Given the description of an element on the screen output the (x, y) to click on. 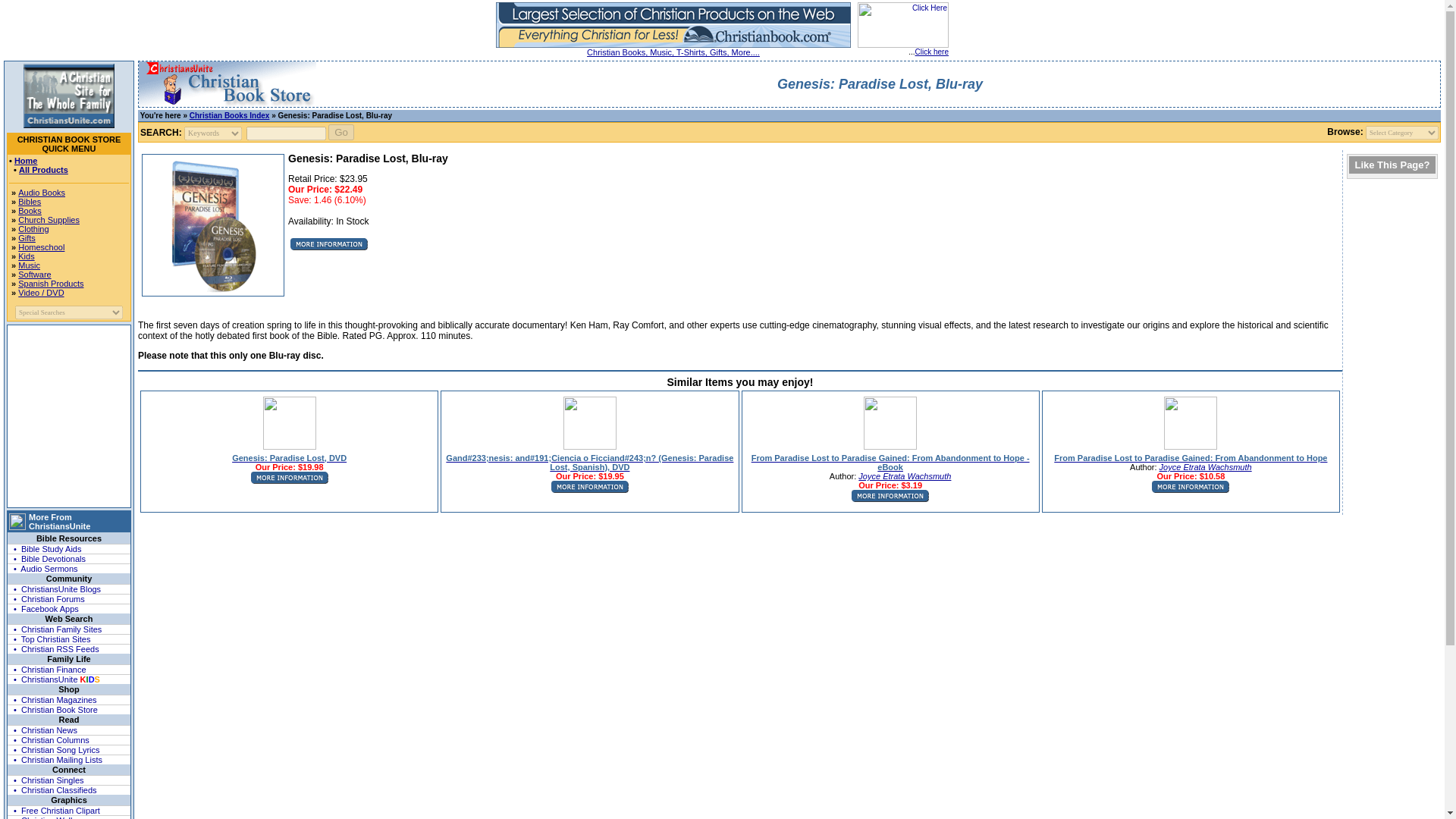
Clothing (32, 228)
Home (25, 160)
Bibles (28, 201)
Kids (25, 256)
Audio Books (41, 192)
Spanish Products (49, 283)
Click here (932, 51)
Music (28, 265)
Books (29, 210)
Homeschool (40, 246)
